Given the description of an element on the screen output the (x, y) to click on. 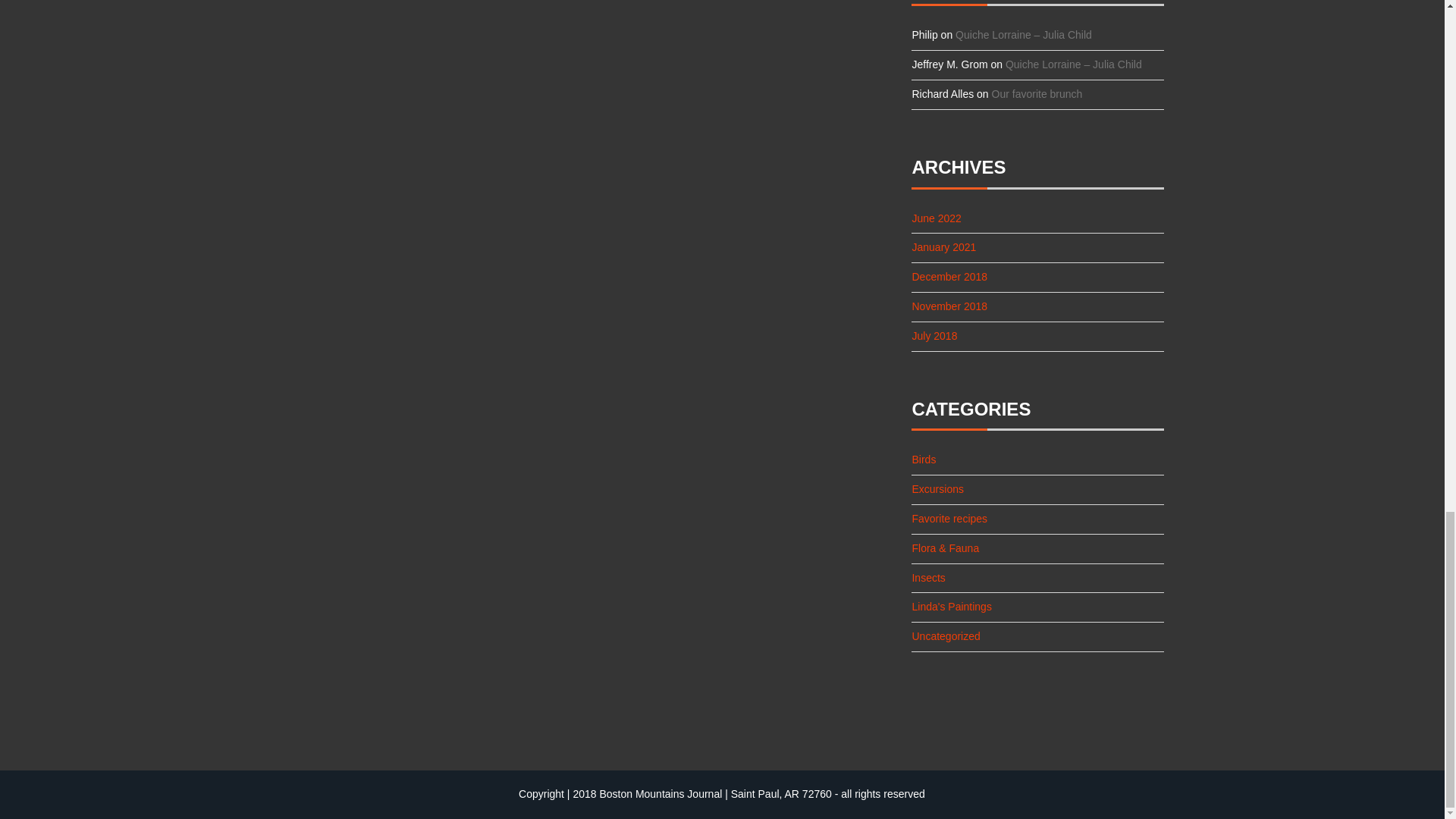
Birds seen around Seven Cedars and the Boston Mountains (923, 459)
Trips long and short that Linda and I have taken (936, 489)
Insects seen around Seven Cedars and the Boston Mountains (927, 577)
